Given the description of an element on the screen output the (x, y) to click on. 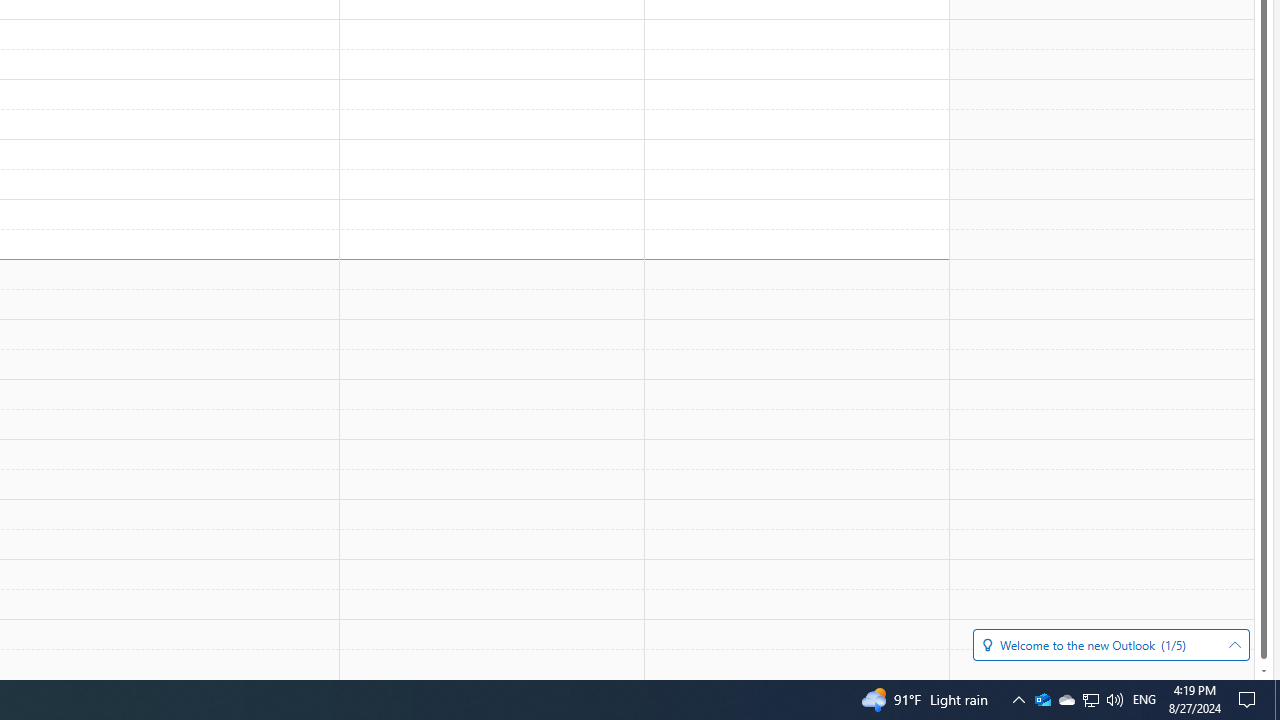
Microsoft Outlook (1042, 699)
System Promoted Notification Area (1042, 699)
